Given the description of an element on the screen output the (x, y) to click on. 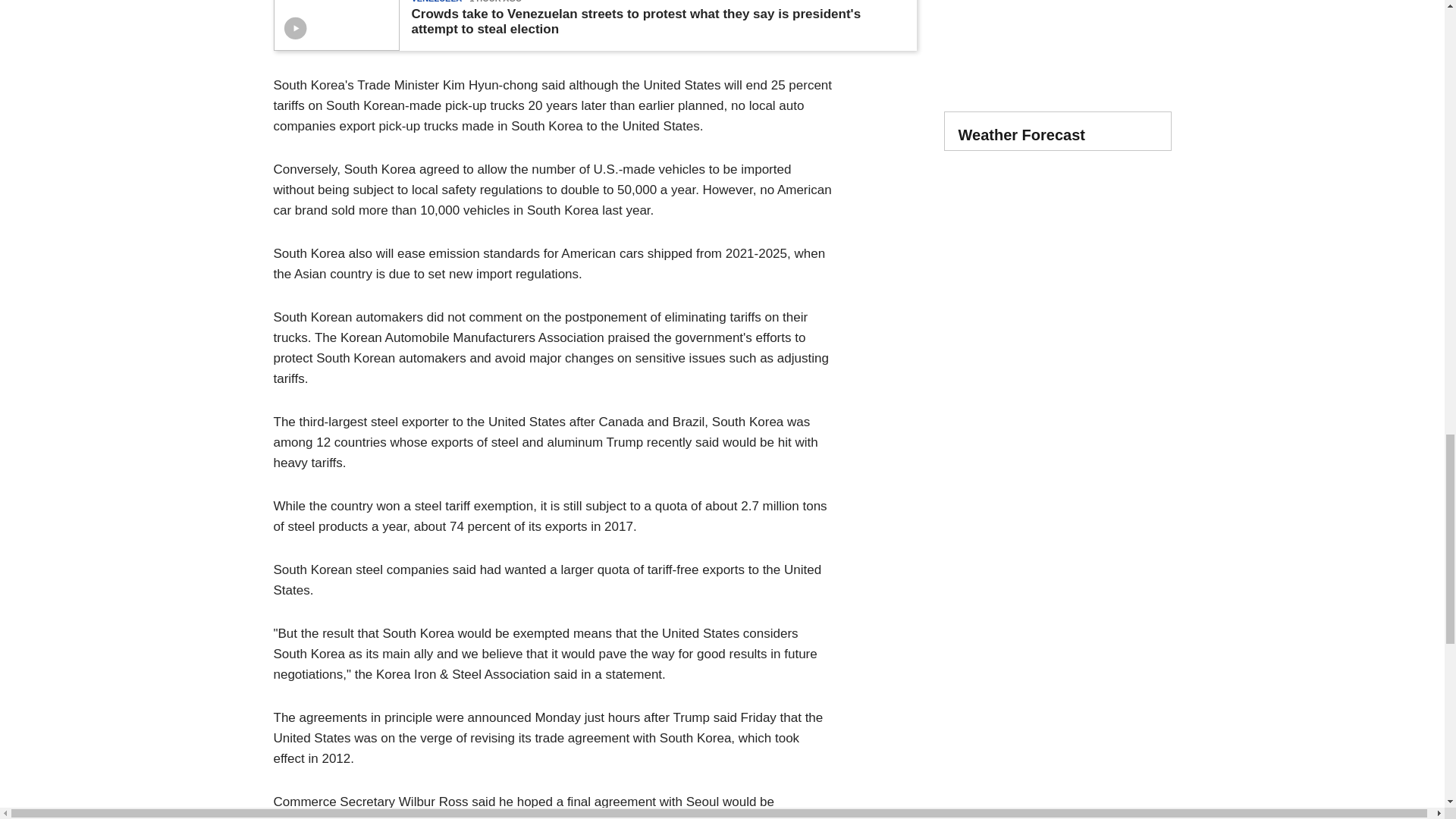
VENEZUELA (435, 1)
